Given the description of an element on the screen output the (x, y) to click on. 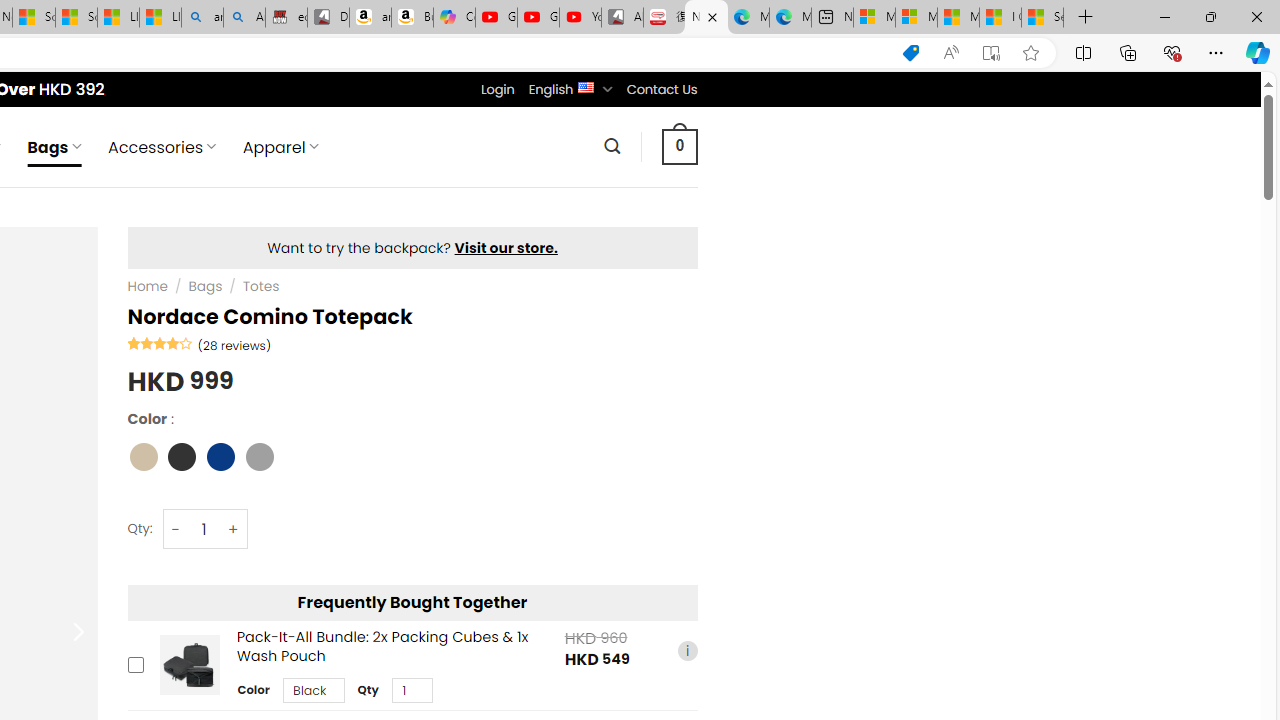
amazon - Search (201, 17)
English (586, 86)
Nordace Comino Totepack (706, 17)
Class: upsell-v2-product-upsell-variable-product-qty-select (411, 691)
YouTube Kids - An App Created for Kids to Explore Content (580, 17)
Contact Us (661, 89)
Rated 4.07 out of 5 (160, 342)
